Given the description of an element on the screen output the (x, y) to click on. 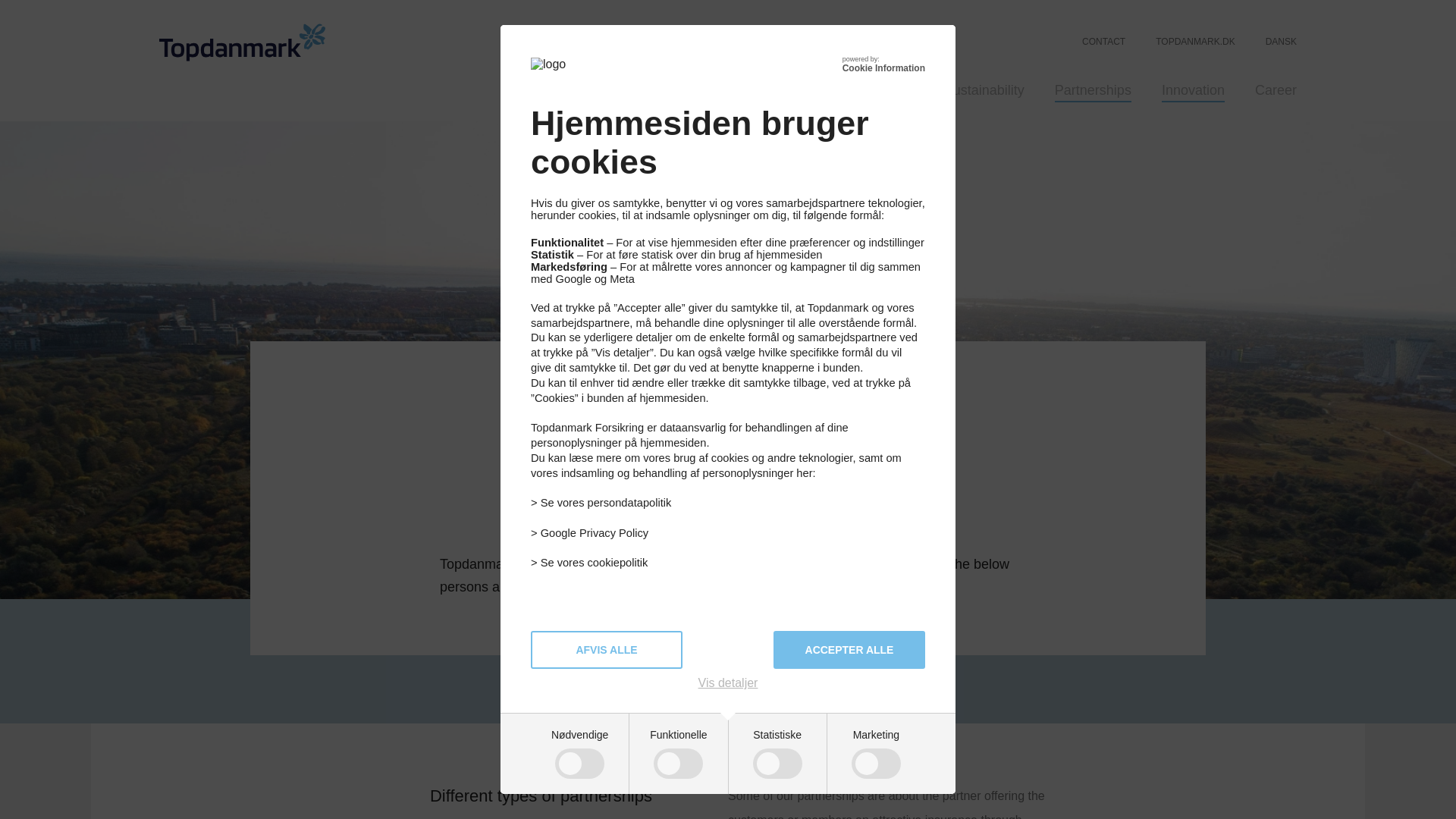
Cookie Information (883, 68)
ACCEPTER ALLE (848, 649)
Vis detaljer (728, 683)
AFVIS ALLE (606, 649)
